Given the description of an element on the screen output the (x, y) to click on. 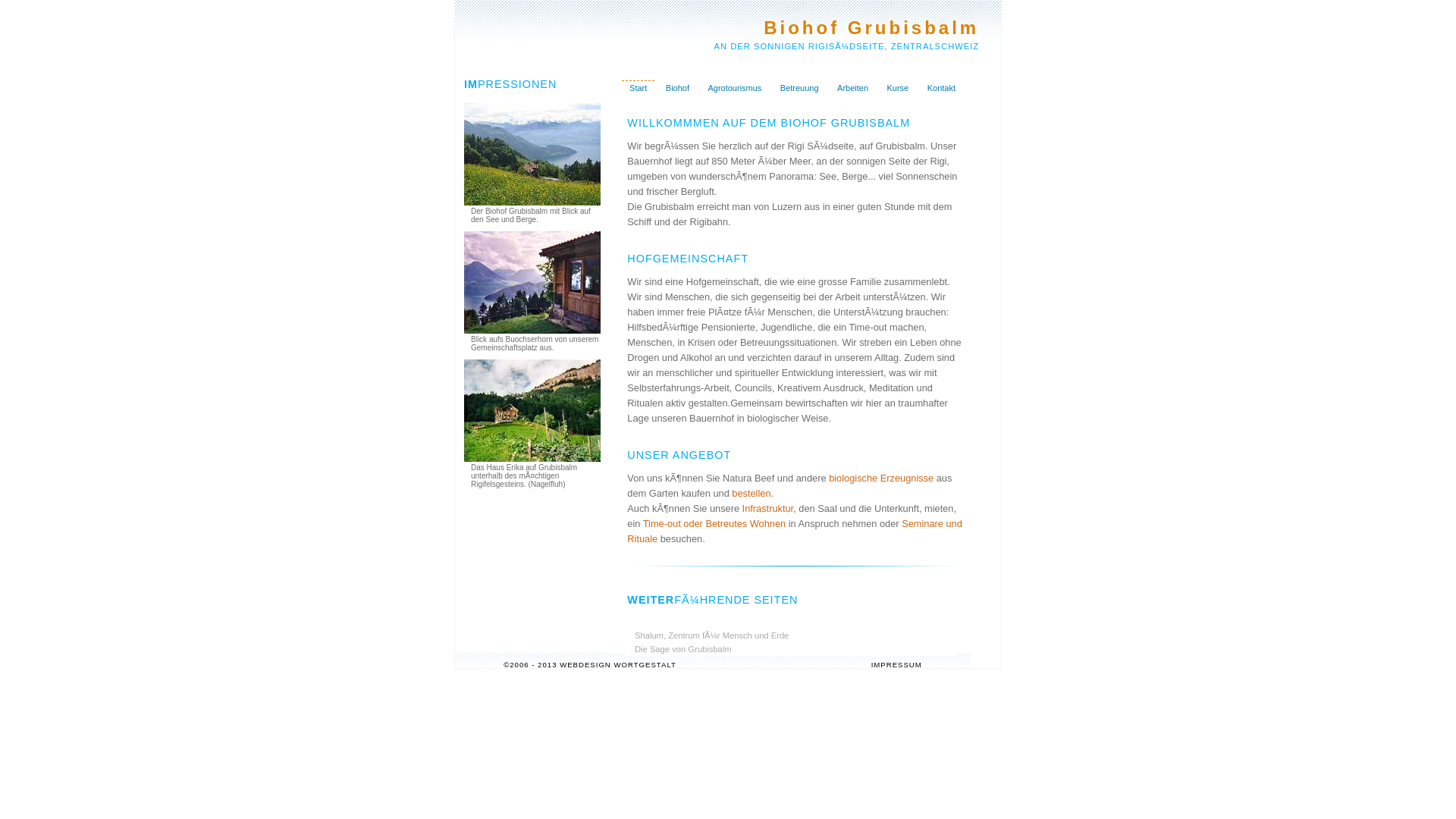
bestellen Element type: text (750, 492)
Kontakt Element type: text (941, 87)
biologische Erzeugnisse Element type: text (880, 477)
IMPRESSUM Element type: text (896, 664)
Betreuung Element type: text (799, 87)
Infrastruktur Element type: text (767, 508)
Biohof Element type: text (677, 87)
Seminare und Rituale Element type: text (794, 530)
Time-out oder Betreutes Wohnen Element type: text (714, 523)
Kurse Element type: text (897, 87)
Arbeiten Element type: text (852, 87)
Agrotourismus Element type: text (733, 87)
Start Element type: text (637, 87)
Die Sage von Grubisbalm Element type: text (793, 648)
WORTGESTALT Element type: text (644, 664)
